Given the description of an element on the screen output the (x, y) to click on. 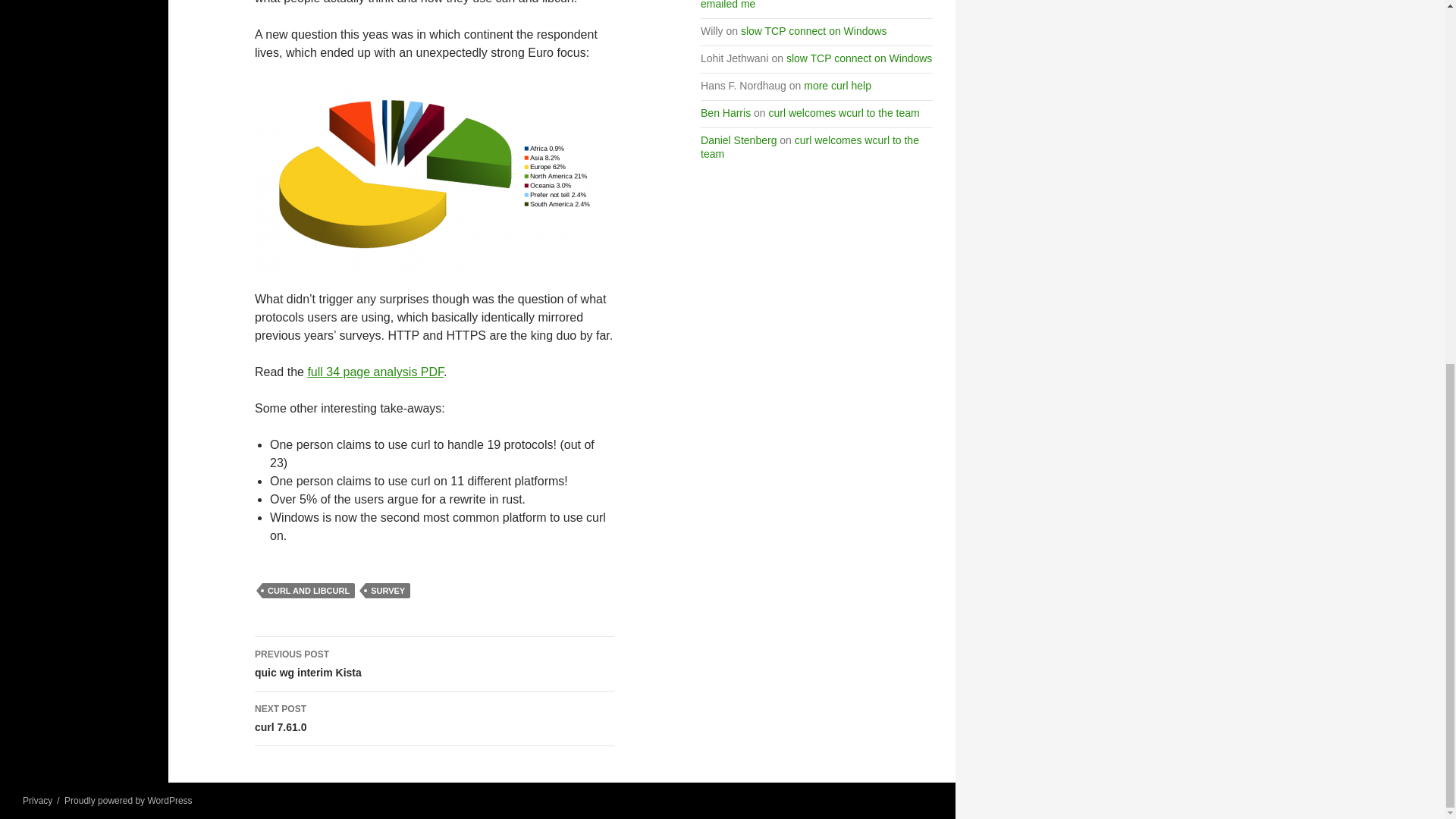
curl welcomes wcurl to the team (809, 146)
CURL AND LIBCURL (308, 590)
curl welcomes wcurl to the team (844, 112)
Ben Harris (725, 112)
Daniel Stenberg (434, 718)
slow TCP connect on Windows (434, 664)
full 34 page analysis PDF (738, 140)
slow TCP connect on Windows (858, 58)
